Given the description of an element on the screen output the (x, y) to click on. 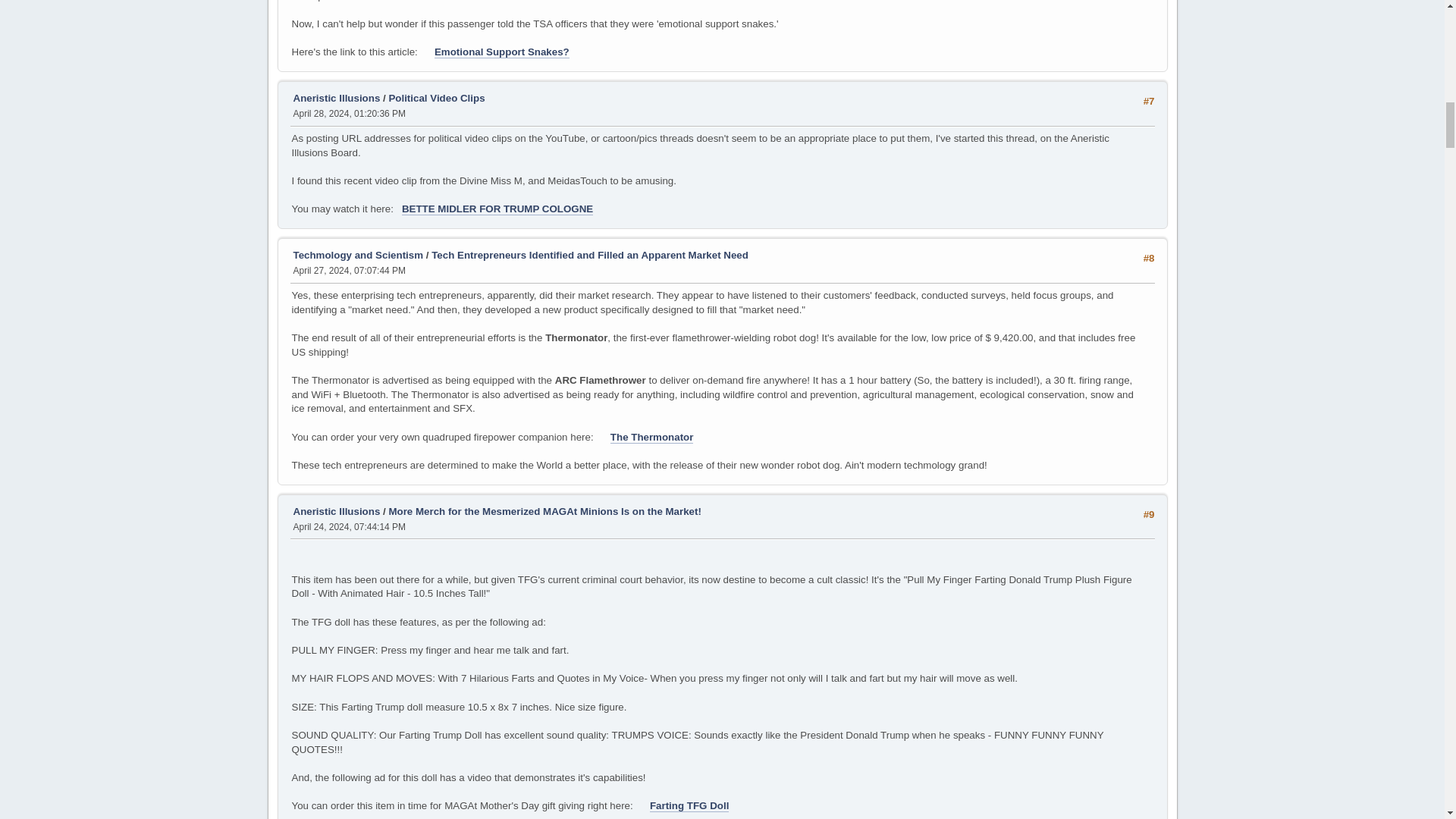
Emotional Support Snakes? (501, 51)
